Given the description of an element on the screen output the (x, y) to click on. 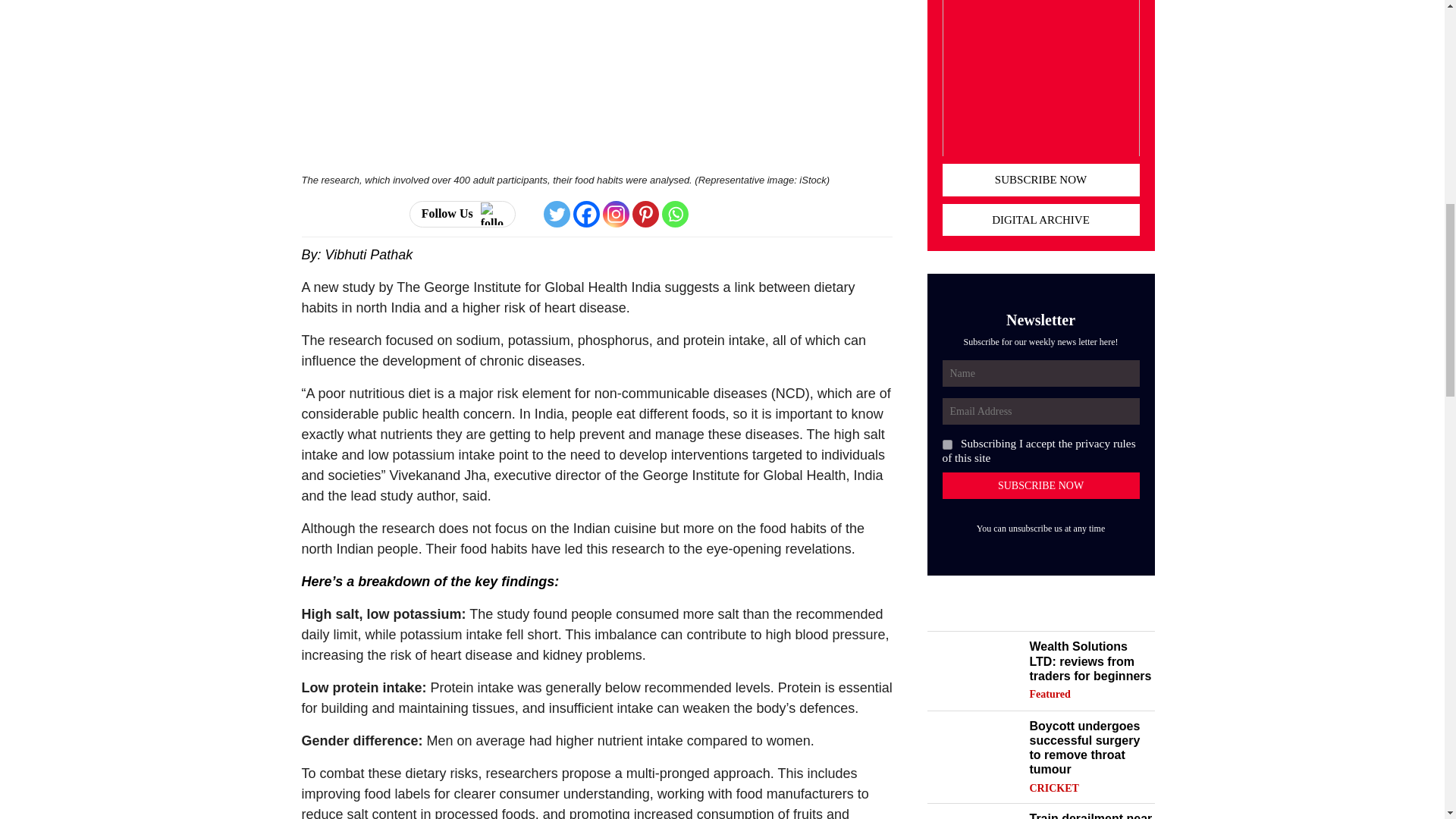
Subscribe Now (1040, 485)
Facebook (586, 213)
Pinterest (645, 213)
Instagram (615, 213)
Twitter (556, 213)
Whatsapp (675, 213)
on (947, 444)
